Given the description of an element on the screen output the (x, y) to click on. 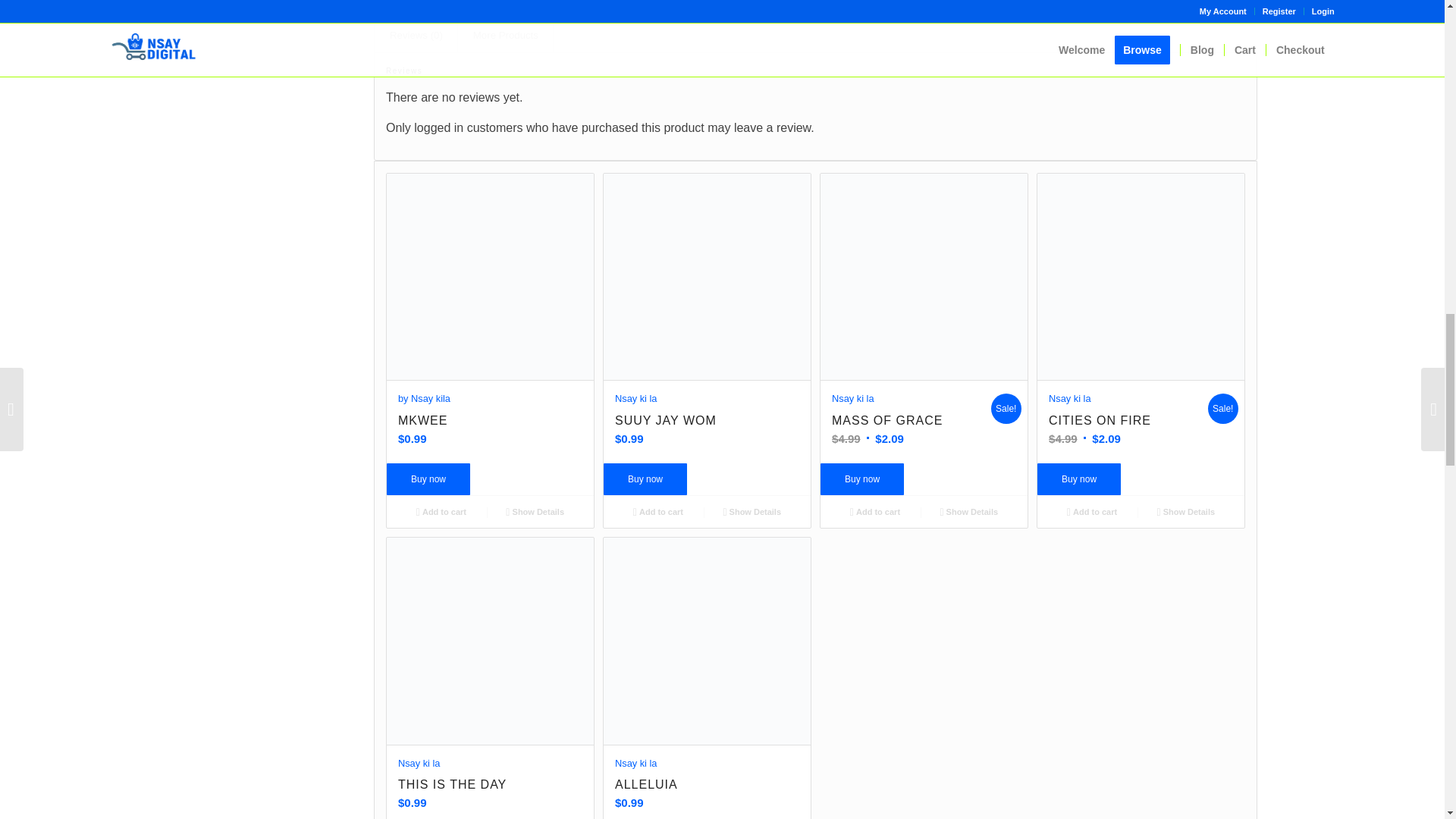
SUUY JAY WOM (706, 398)
CITIES ON FIRE (1128, 398)
MASS OF GRACE (911, 398)
MKWEE (489, 398)
THIS IS THE DAY (489, 762)
